Given the description of an element on the screen output the (x, y) to click on. 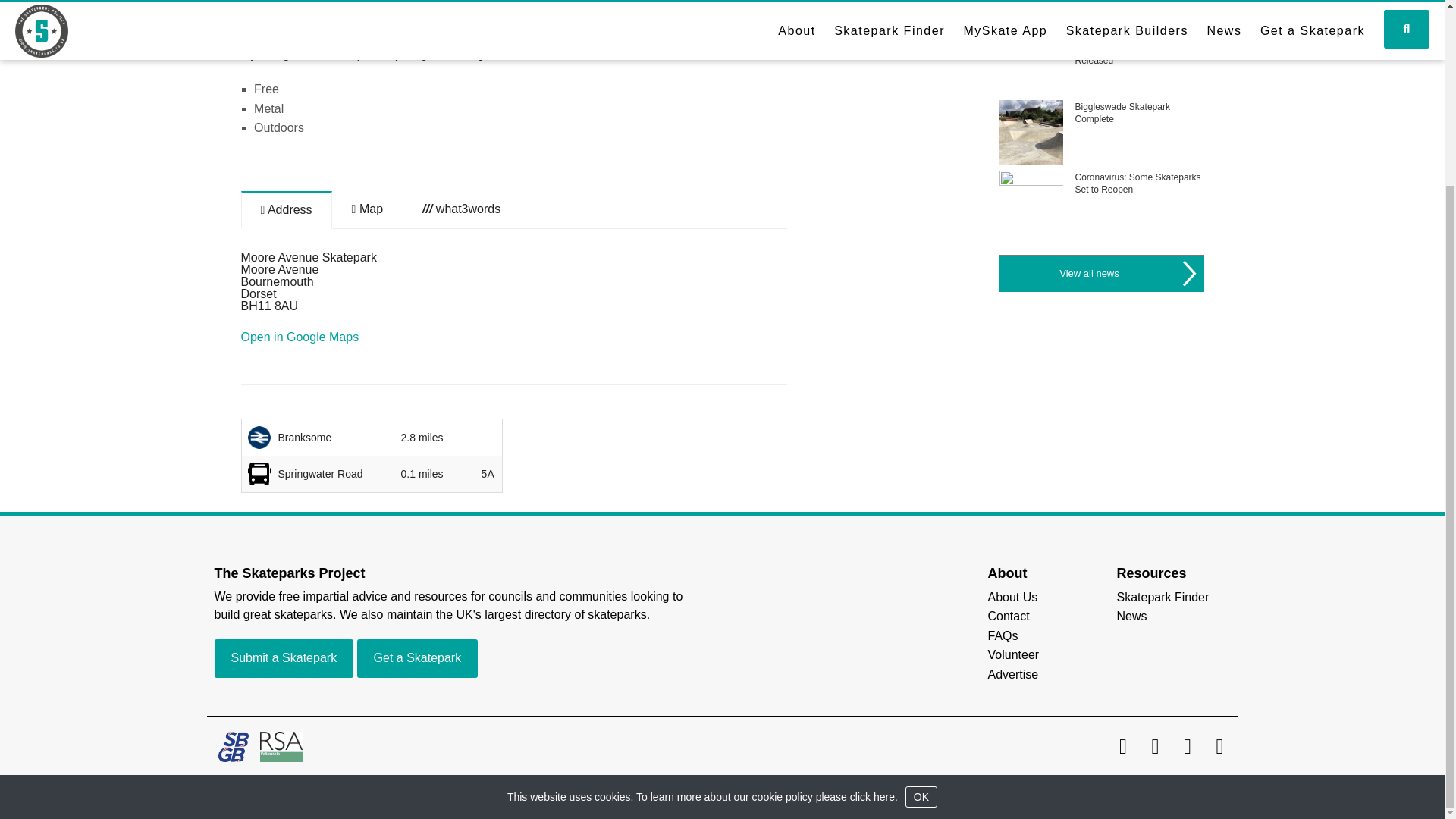
Google Map (367, 209)
click here (872, 567)
OK (921, 567)
Design and Development Guidance for Skateboarding Released (1131, 48)
what3words Address (461, 209)
Biggleswade Skatepark Complete (1121, 112)
Address (286, 209)
Open in Google Maps (300, 336)
